Given the description of an element on the screen output the (x, y) to click on. 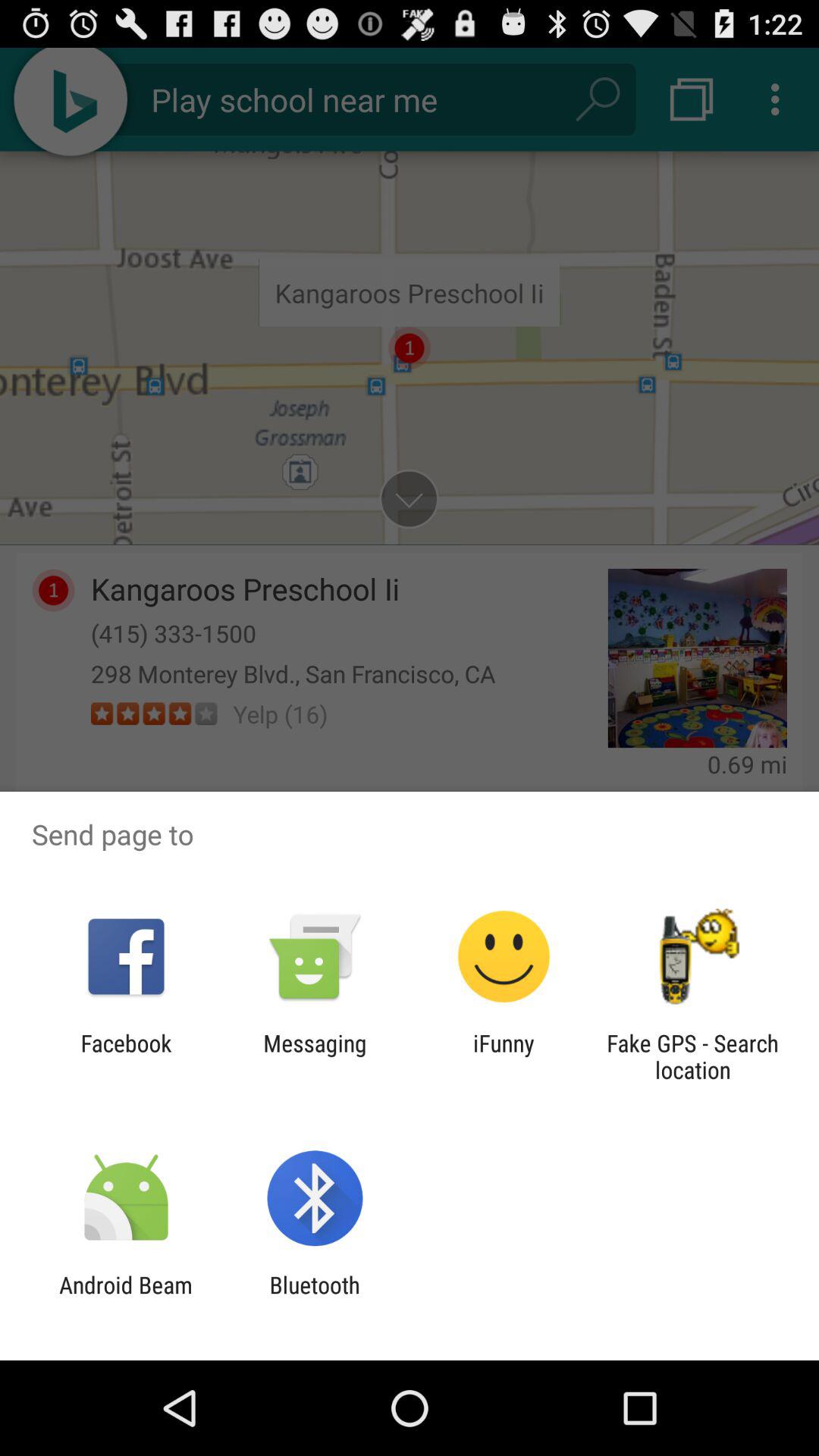
turn off the icon to the right of the android beam app (314, 1298)
